Given the description of an element on the screen output the (x, y) to click on. 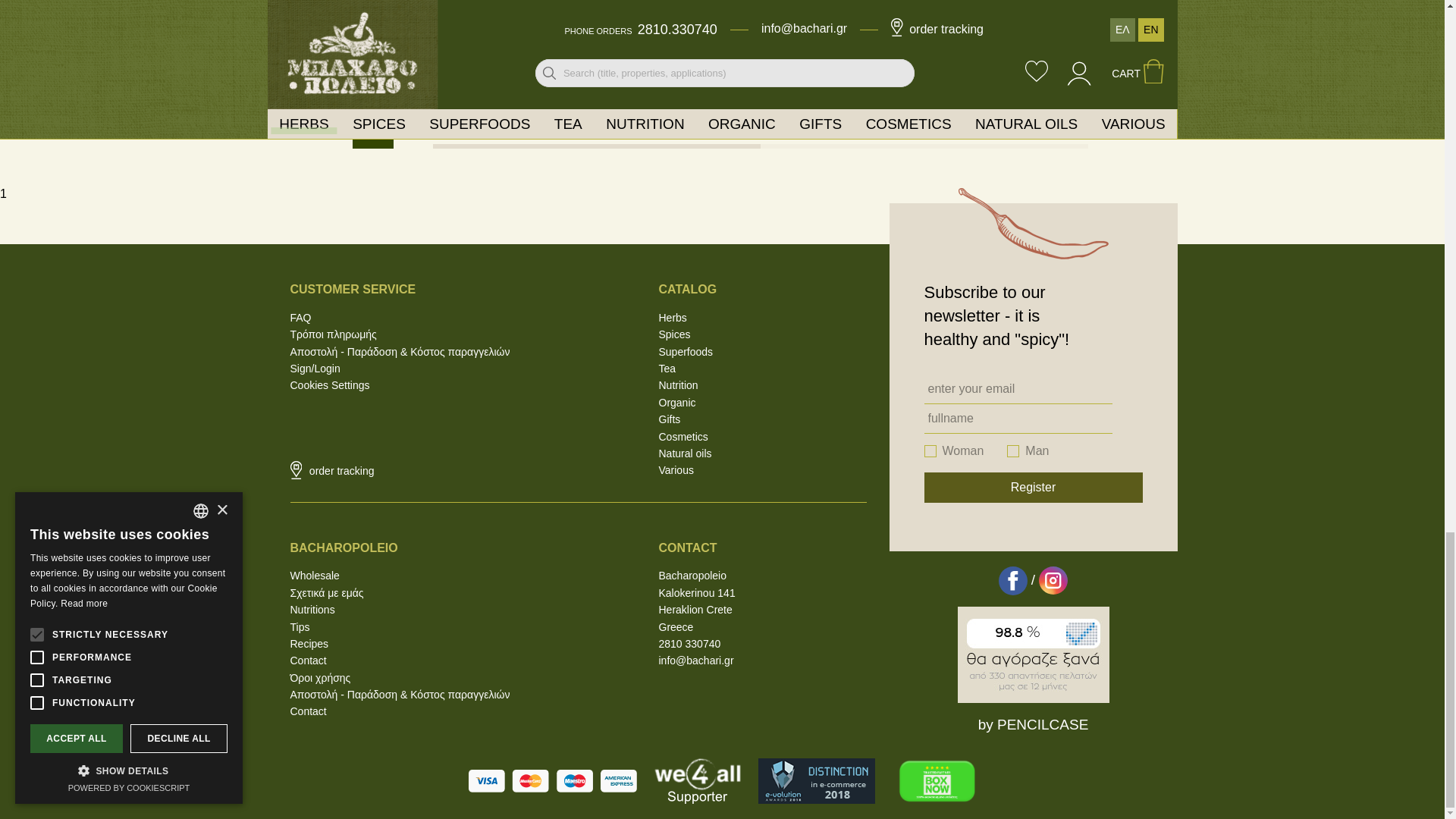
F (929, 451)
M (1013, 451)
